Given the description of an element on the screen output the (x, y) to click on. 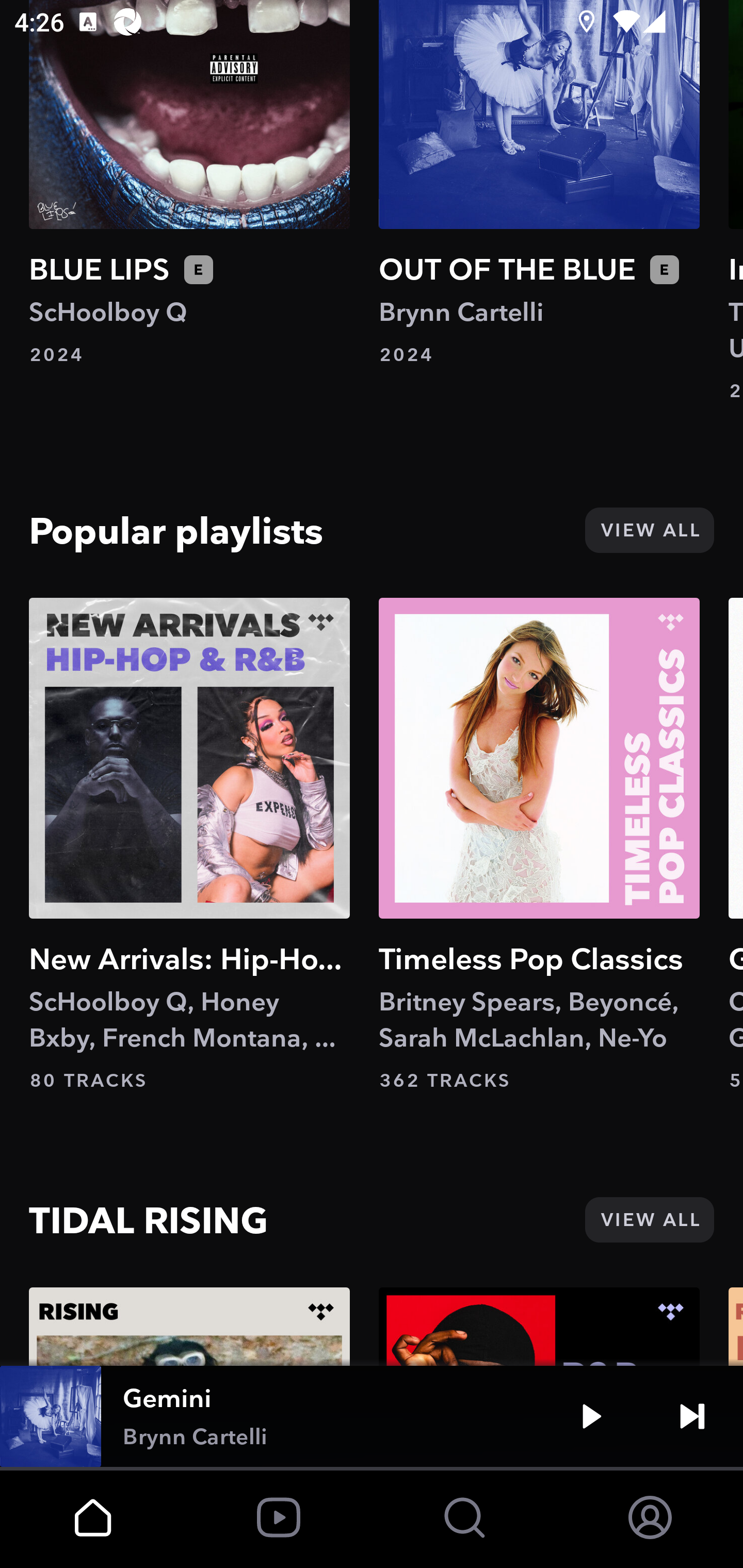
BLUE LIPS ScHoolboy Q 2024 (188, 183)
OUT OF THE BLUE Brynn Cartelli 2024 (538, 183)
VIEW ALL (649, 530)
VIEW ALL (649, 1218)
Gemini Brynn Cartelli Play (371, 1416)
Play (590, 1416)
